Given the description of an element on the screen output the (x, y) to click on. 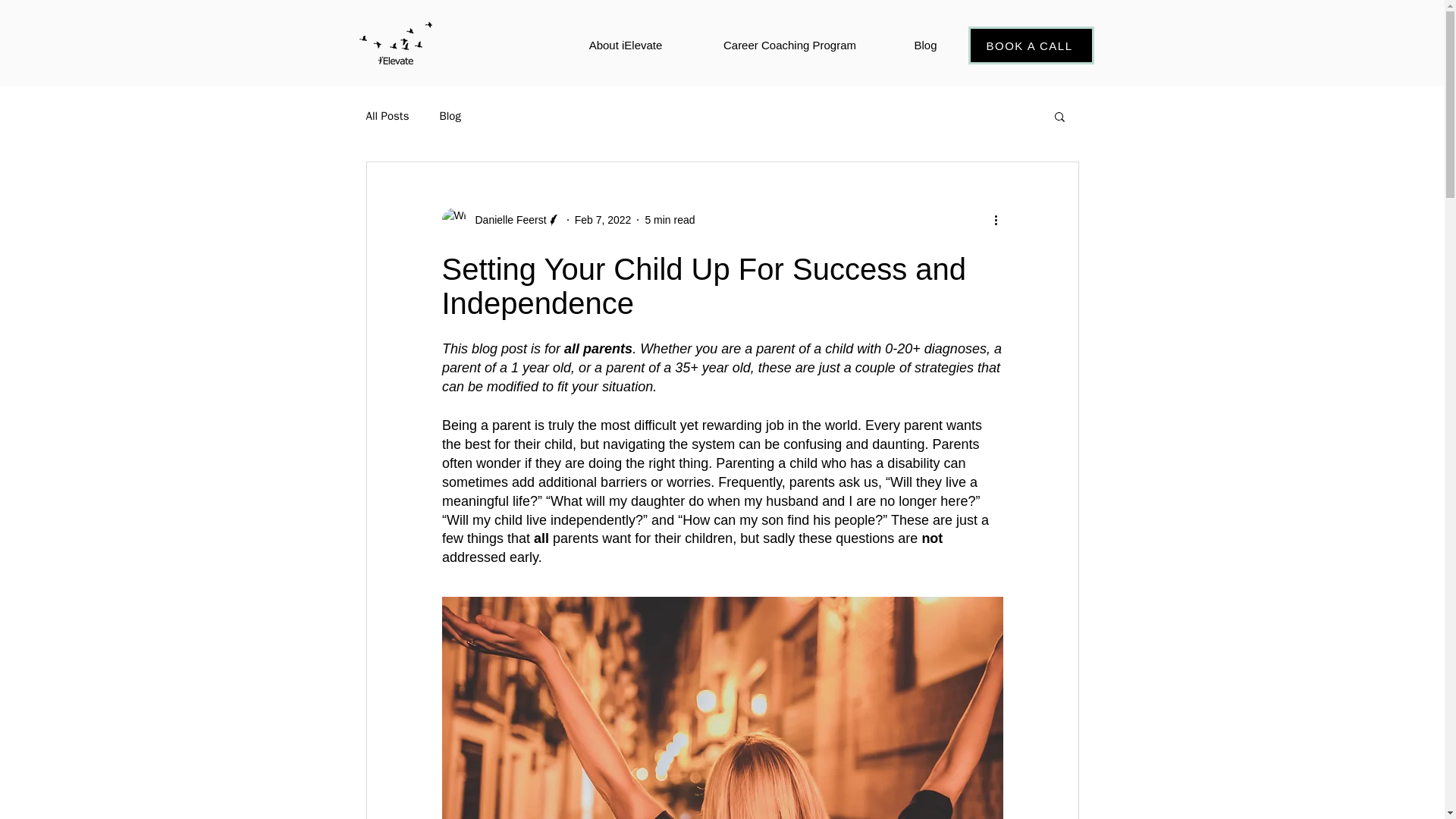
About iElevate (624, 45)
Danielle Feerst (505, 220)
Blog (925, 45)
Feb 7, 2022 (603, 219)
Blog (449, 115)
Career Coaching Program (789, 45)
BOOK A CALL (1030, 45)
All Posts (387, 115)
5 min read (669, 219)
Danielle Feerst (500, 219)
